Given the description of an element on the screen output the (x, y) to click on. 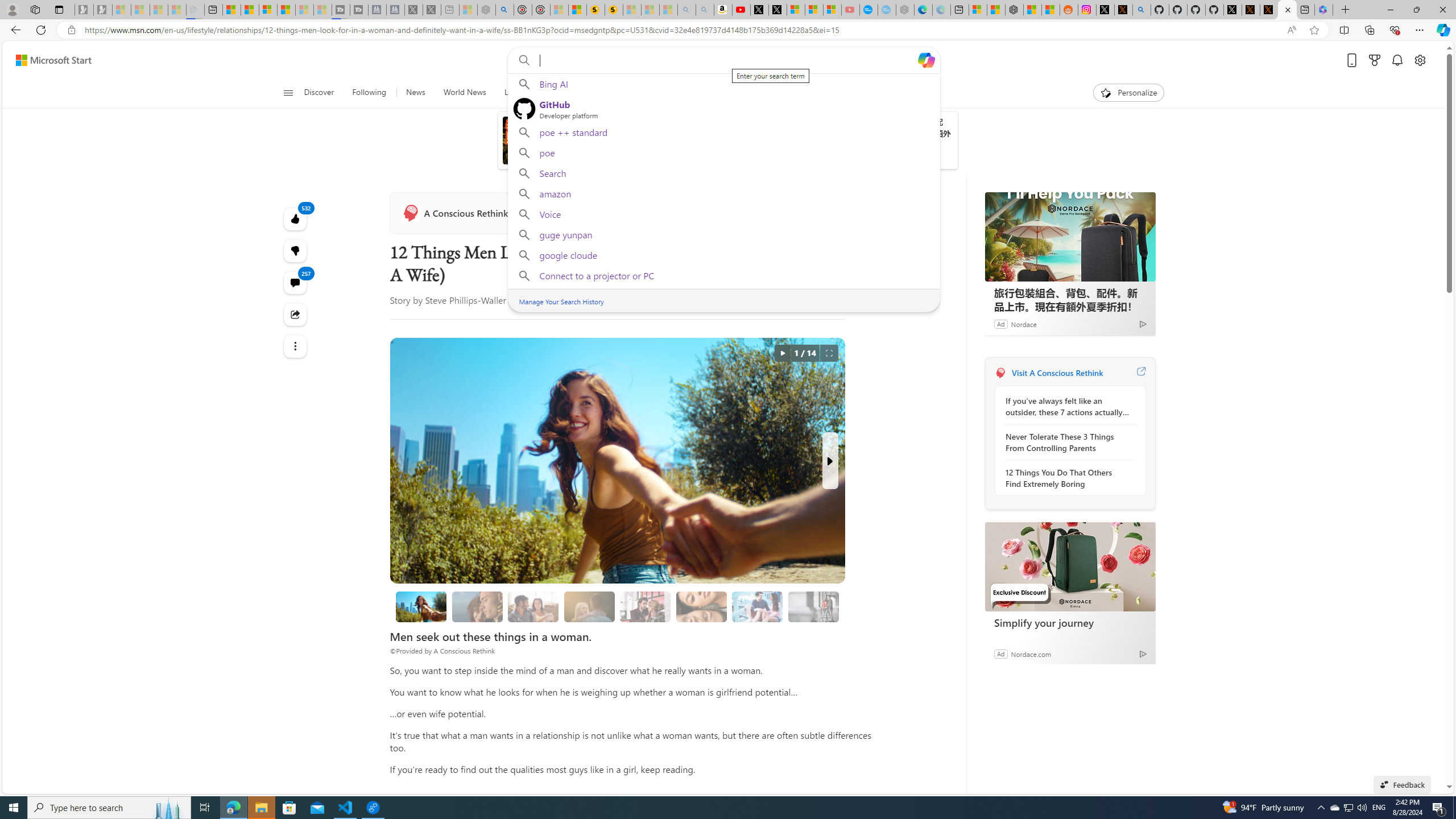
Wildlife - MSN - Sleeping (467, 9)
Men seek out these things in a woman. (421, 606)
Profile / X (1232, 9)
7. She can communicate her needs and wants. (812, 606)
5. She is independent. (700, 606)
